Given the description of an element on the screen output the (x, y) to click on. 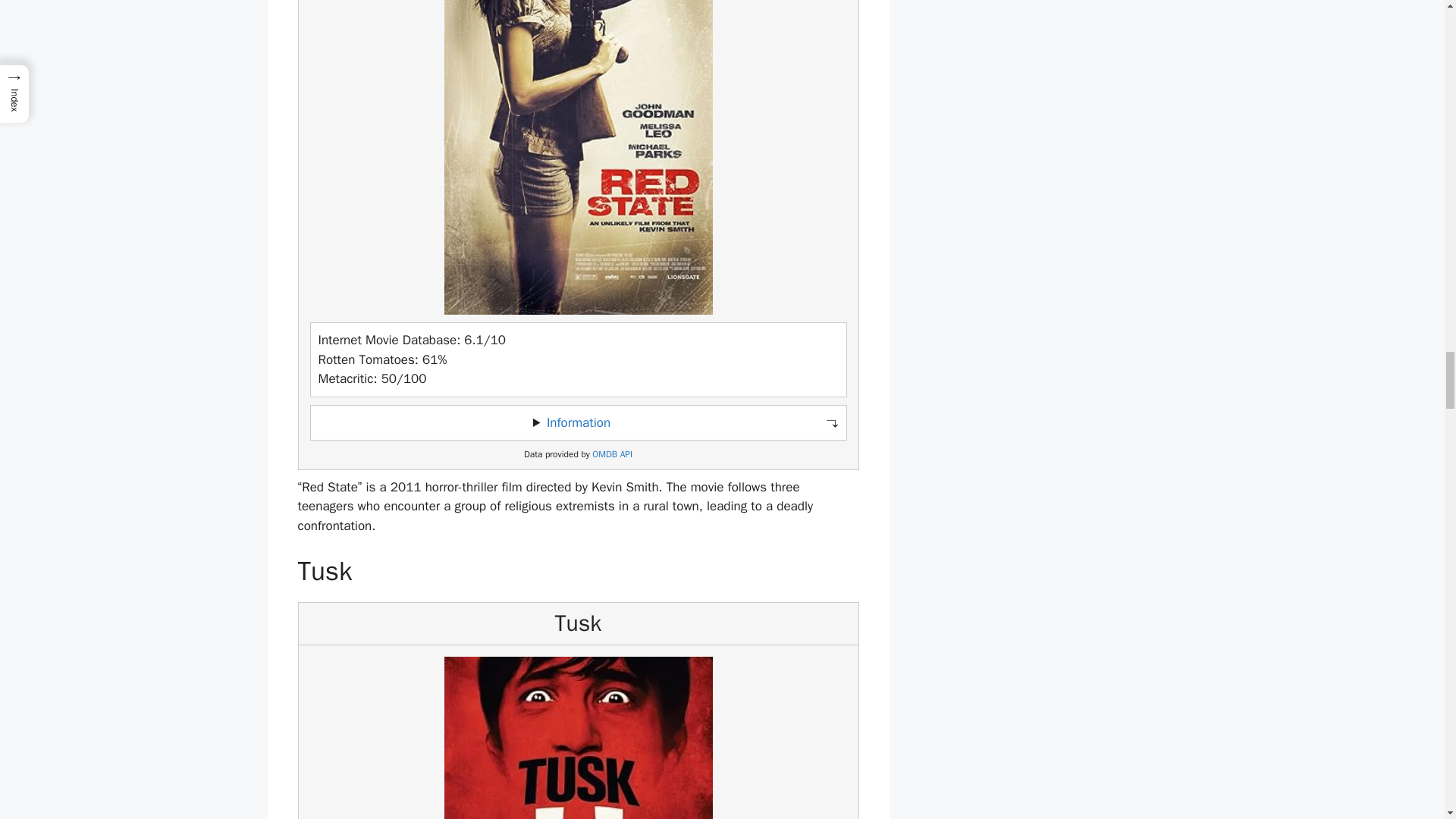
OMDB API (611, 454)
Information (578, 422)
Toggle information (578, 422)
Open Movie Database API (611, 454)
